Given the description of an element on the screen output the (x, y) to click on. 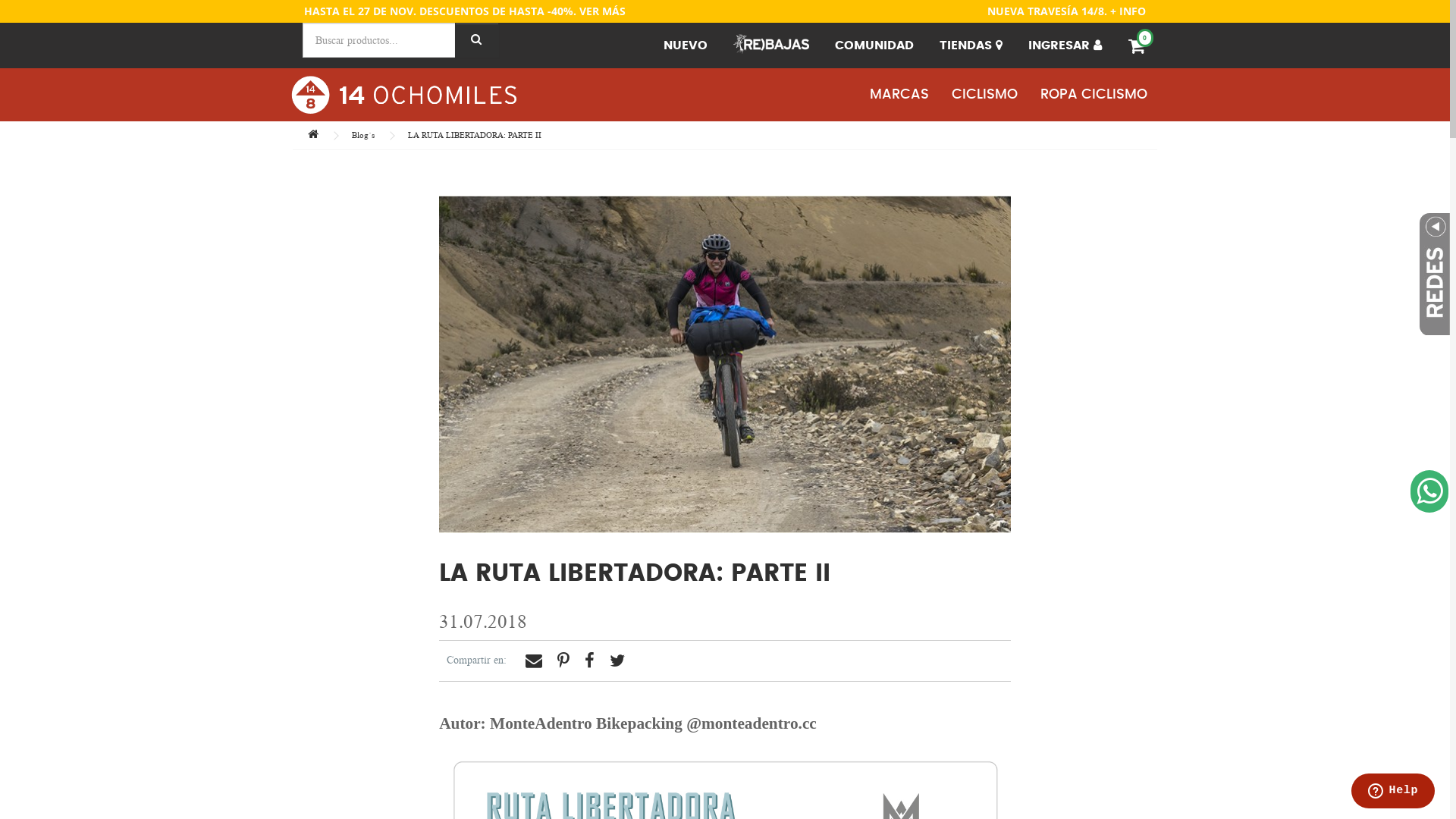
(RE)BAJAS Element type: hover (770, 45)
COMUNIDAD Element type: text (874, 45)
INGRESAR Element type: text (1064, 45)
Opens a widget where you can chat to one of our agents Element type: hover (1392, 792)
MARCAS Element type: text (899, 94)
LA RUTA LIBERTADORA: PARTE II Element type: text (474, 135)
CICLISMO Element type: text (984, 94)
ROPA CICLISMO Element type: text (1093, 94)
14 OCHOMILES Element type: hover (403, 94)
NUEVO Element type: text (685, 45)
TIENDAS Element type: text (970, 45)
